Given the description of an element on the screen output the (x, y) to click on. 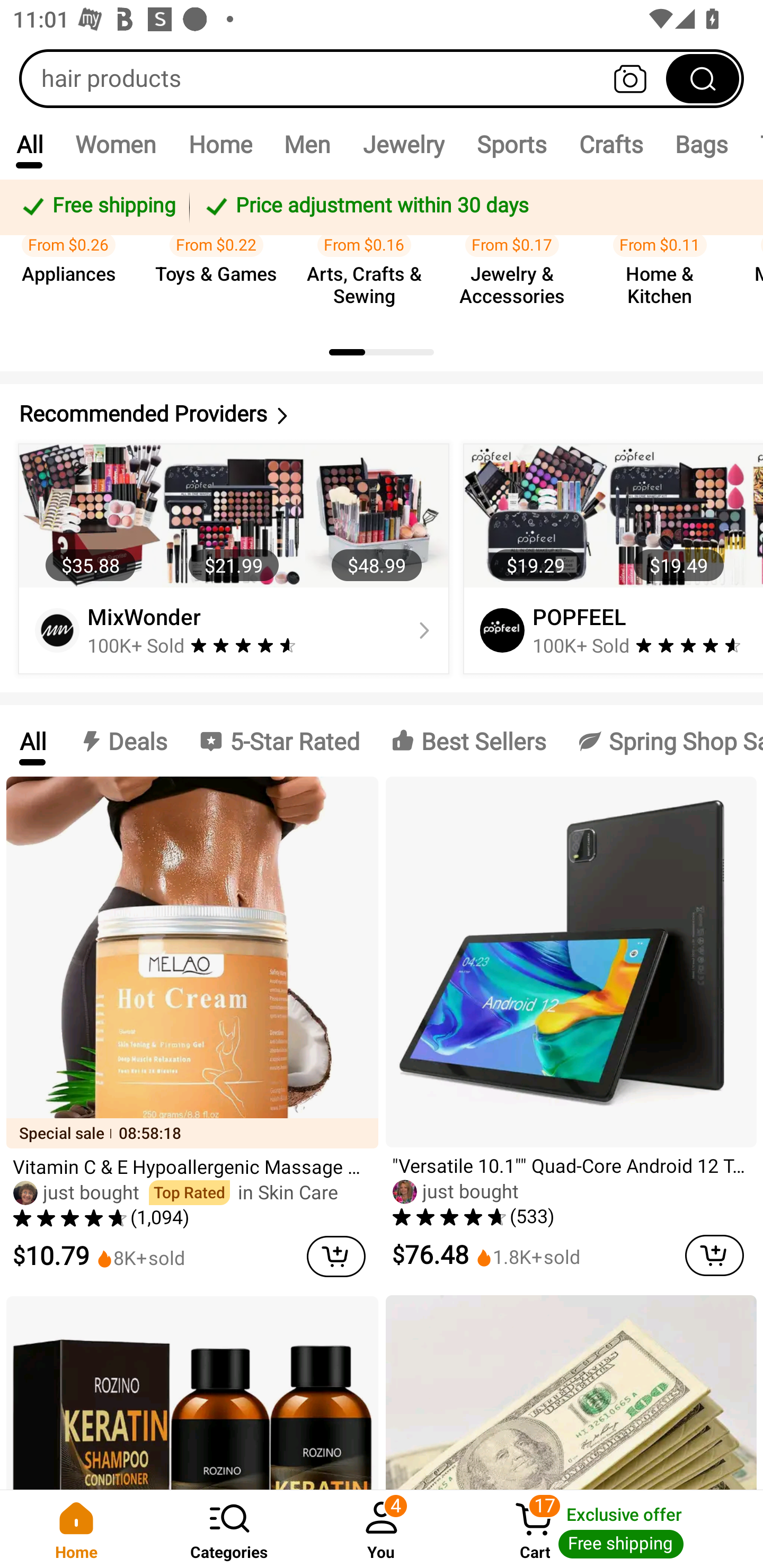
hair products (381, 78)
All (29, 144)
Women (115, 144)
Home (219, 144)
Men (306, 144)
Jewelry (403, 144)
Sports (511, 144)
Crafts (611, 144)
Bags (701, 144)
From $0.26 Appliances (74, 254)
From $0.22 Toys & Games (222, 254)
From $0.16 Arts, Crafts & Sewing (369, 254)
From $0.17 Jewelry & Accessories (517, 254)
From $0.11 Home & Kitchen (665, 254)
Recommended Providers (381, 413)
$35.88 $21.99 $48.99 MixWonder 100K+ Sold (233, 557)
$19.29 $19.49 POPFEEL 100K+ Sold (610, 557)
All (32, 740)
Deals Deals Deals (122, 740)
5-Star Rated 5-Star Rated 5-Star Rated (279, 740)
Best Sellers Best Sellers Best Sellers (468, 740)
Spring Shop Save Spring Shop Save Spring Shop Save (662, 740)
cart delete (714, 1255)
cart delete (335, 1256)
Home (76, 1528)
Categories (228, 1528)
You 4 You (381, 1528)
Cart 17 Cart Exclusive offer (610, 1528)
